Given the description of an element on the screen output the (x, y) to click on. 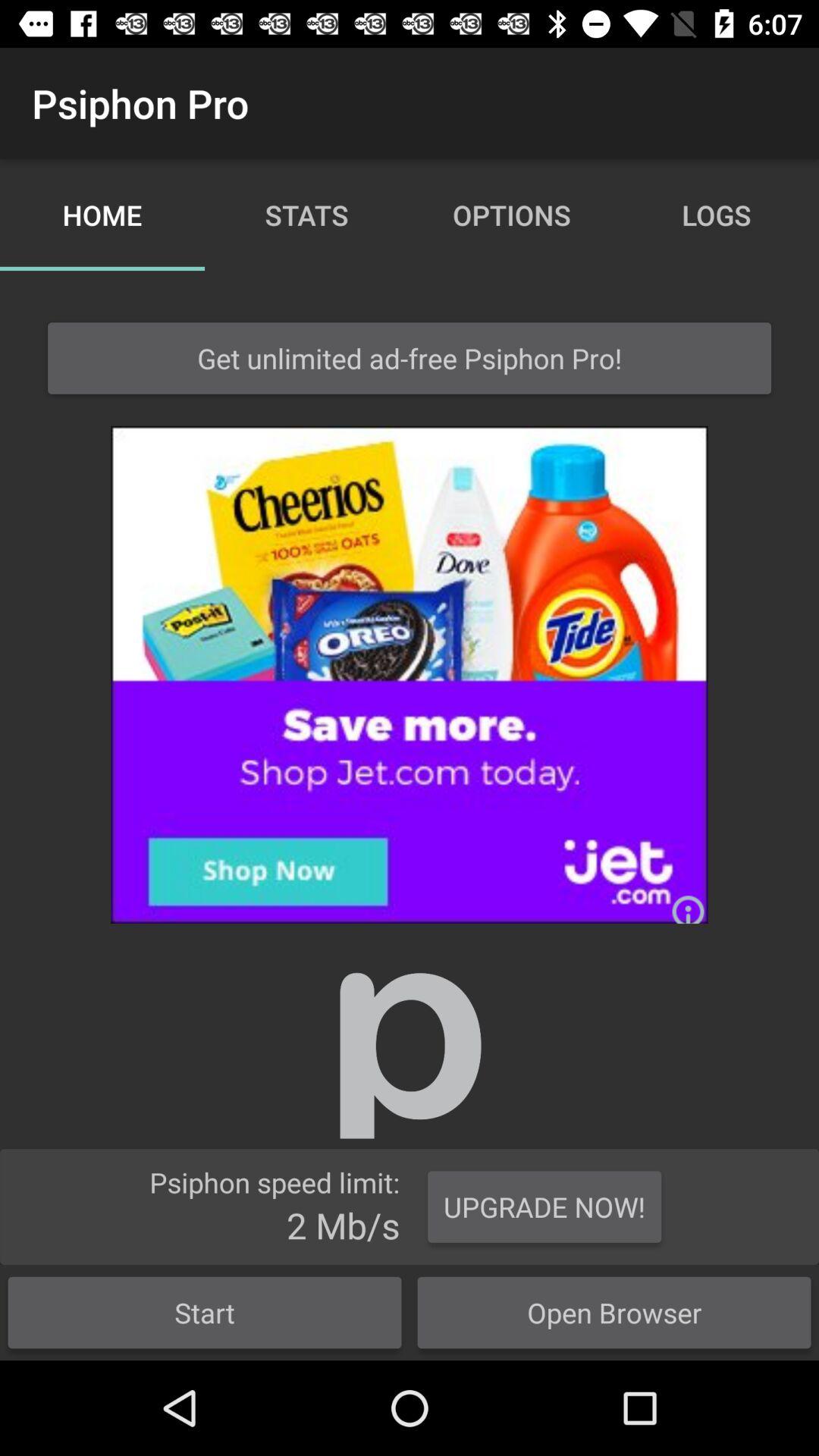
to go oreo (409, 674)
